Given the description of an element on the screen output the (x, y) to click on. 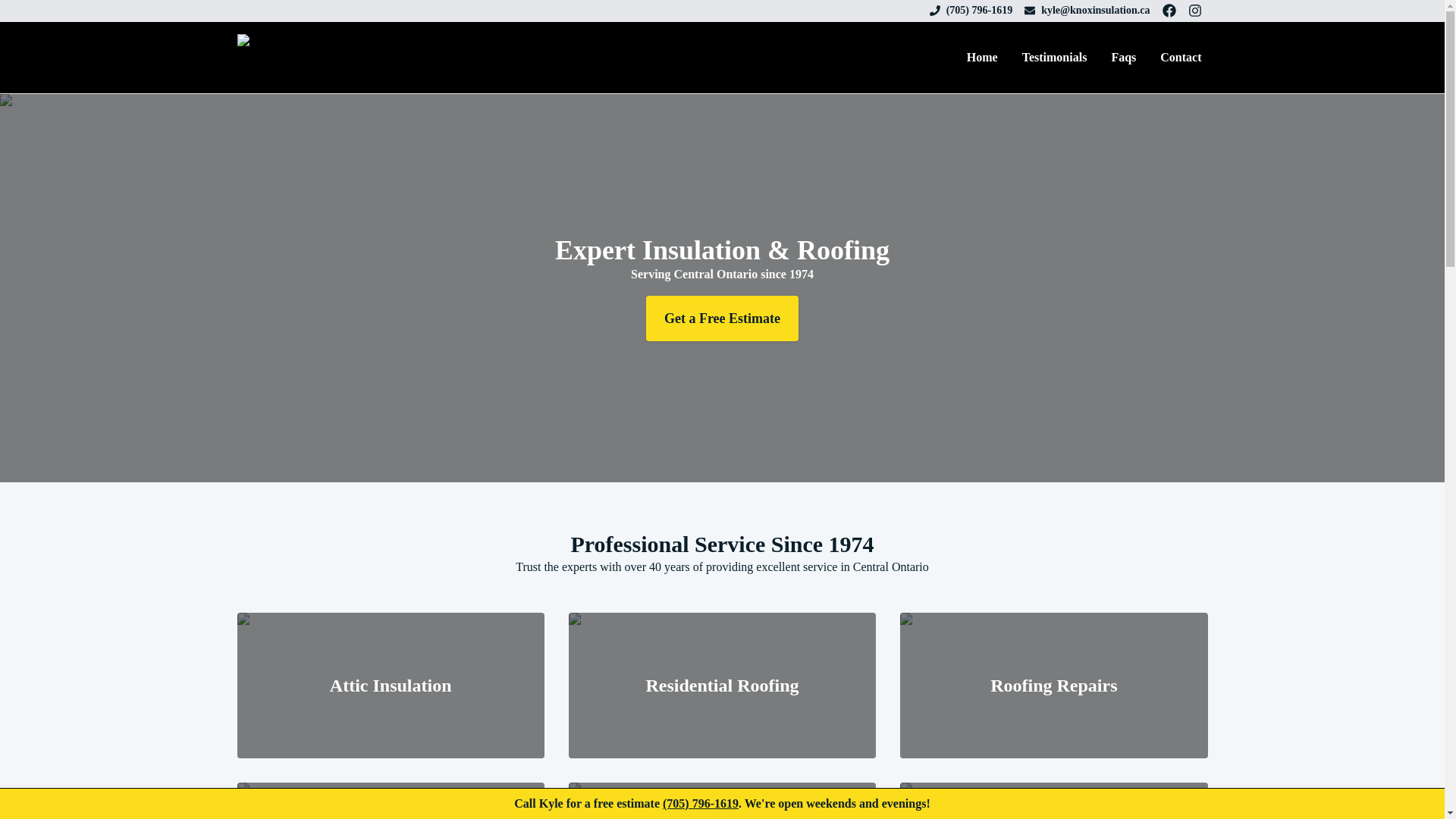
Get a Free Estimate (721, 318)
Testimonials (1054, 57)
Faqs (1123, 57)
Contact (1180, 57)
Home (982, 57)
